Given the description of an element on the screen output the (x, y) to click on. 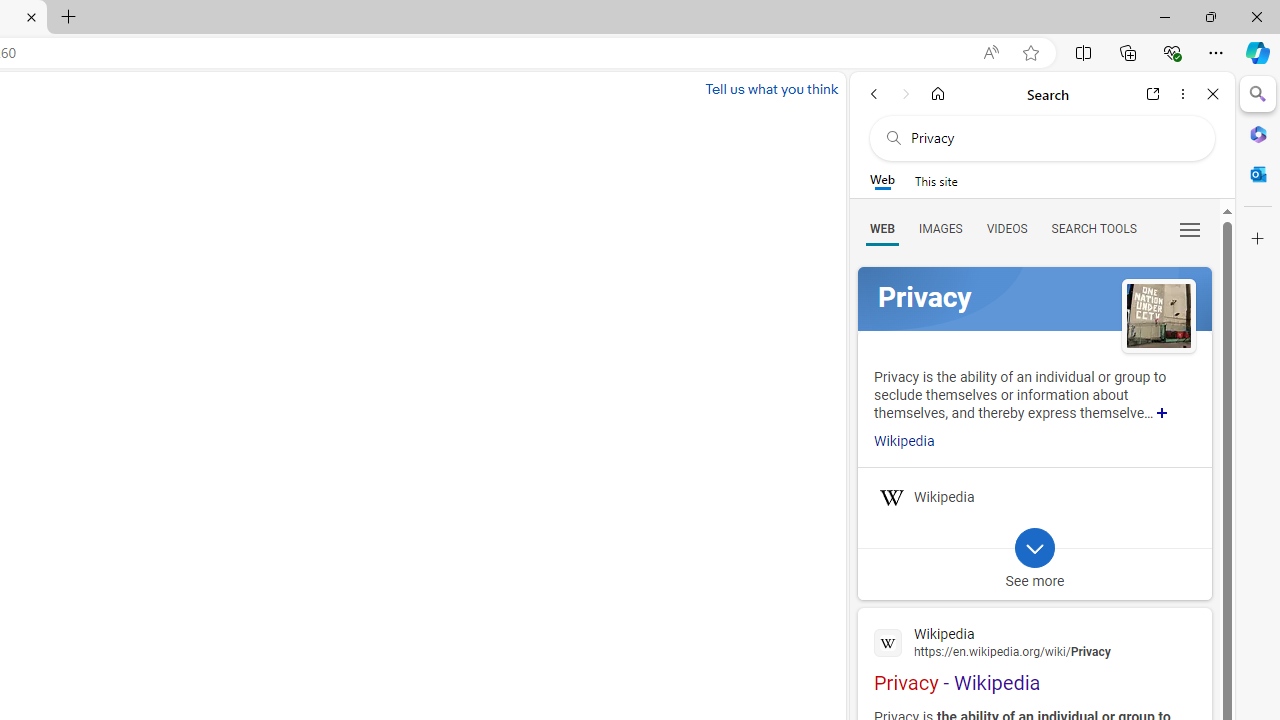
Open link in new tab (1153, 93)
See more images of Privacy (1158, 317)
Search Filter, Search Tools (1093, 228)
Preferences (1189, 228)
SEARCH TOOLS (1093, 228)
Wikipedia (1034, 641)
WEB   (882, 228)
Tell us what you think - Link opens in a new window (771, 88)
This site scope (936, 180)
Web scope (882, 180)
Search the web (1051, 137)
Forward (906, 93)
